Given the description of an element on the screen output the (x, y) to click on. 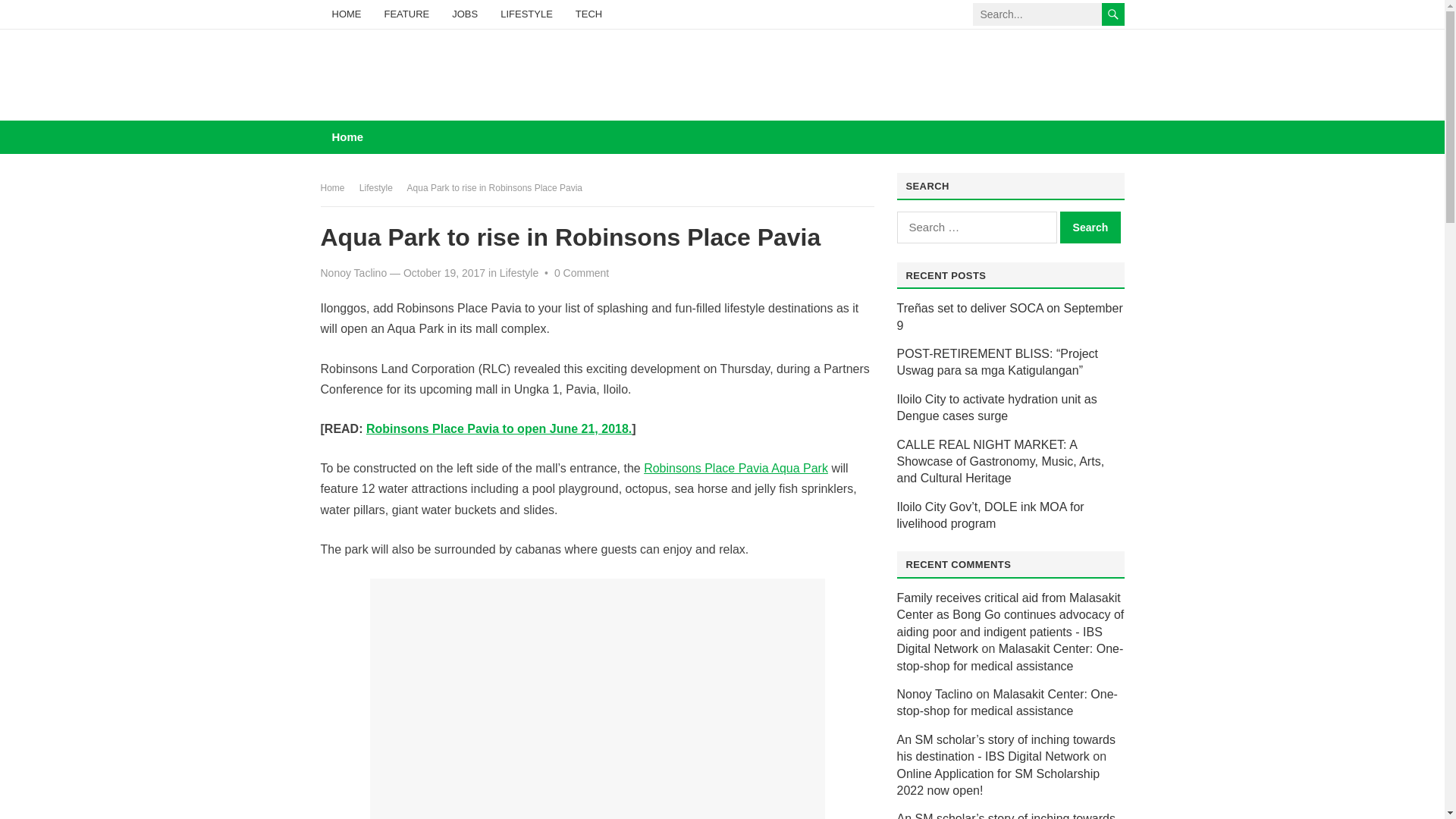
Search (1090, 227)
Lifestyle (381, 187)
TECH (588, 14)
Robinsons Place Pavia to open June 21, 2018. (498, 428)
Posts by Nonoy Taclino (353, 272)
HOME (346, 14)
Home (347, 136)
Nonoy Taclino (353, 272)
0 Comment (581, 272)
Lifestyle (518, 272)
